Given the description of an element on the screen output the (x, y) to click on. 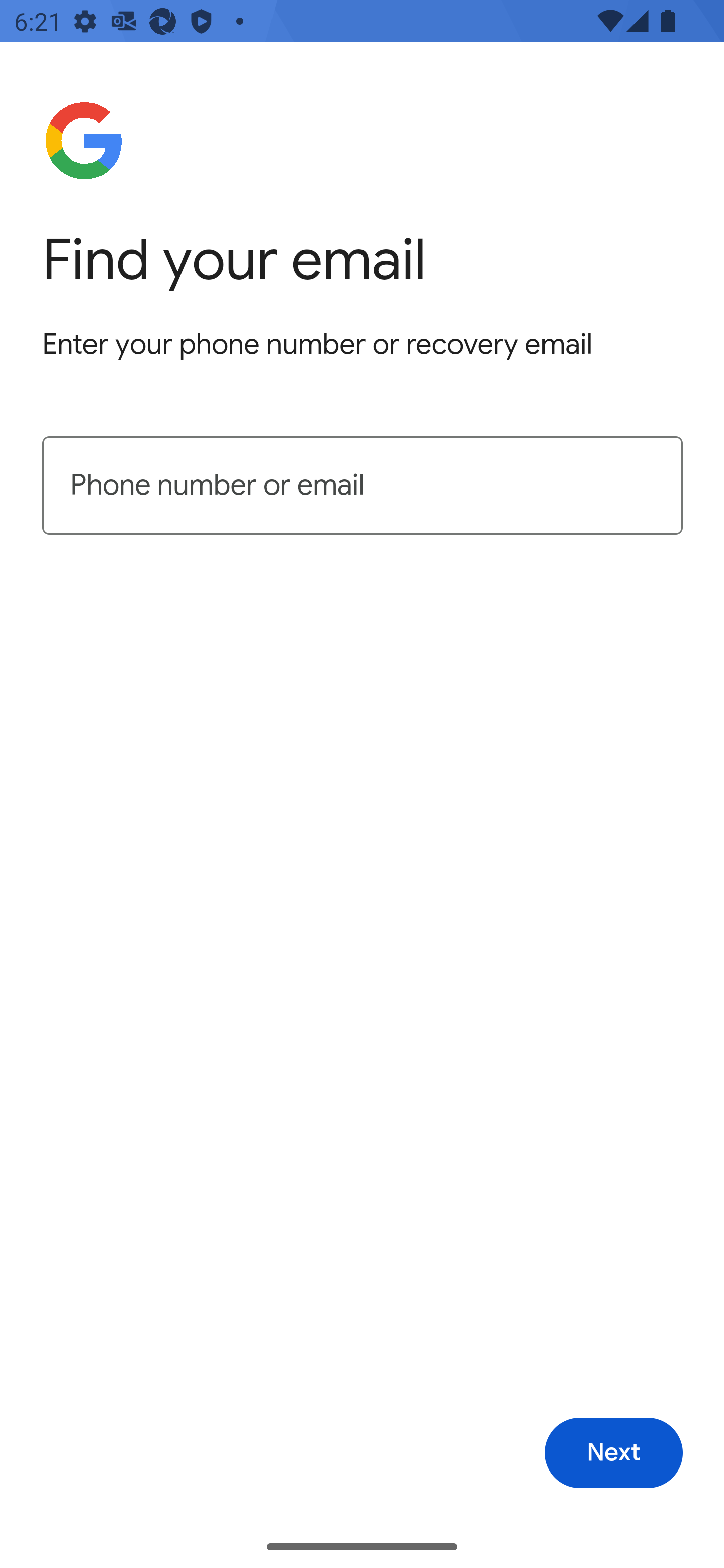
Next (613, 1453)
